Given the description of an element on the screen output the (x, y) to click on. 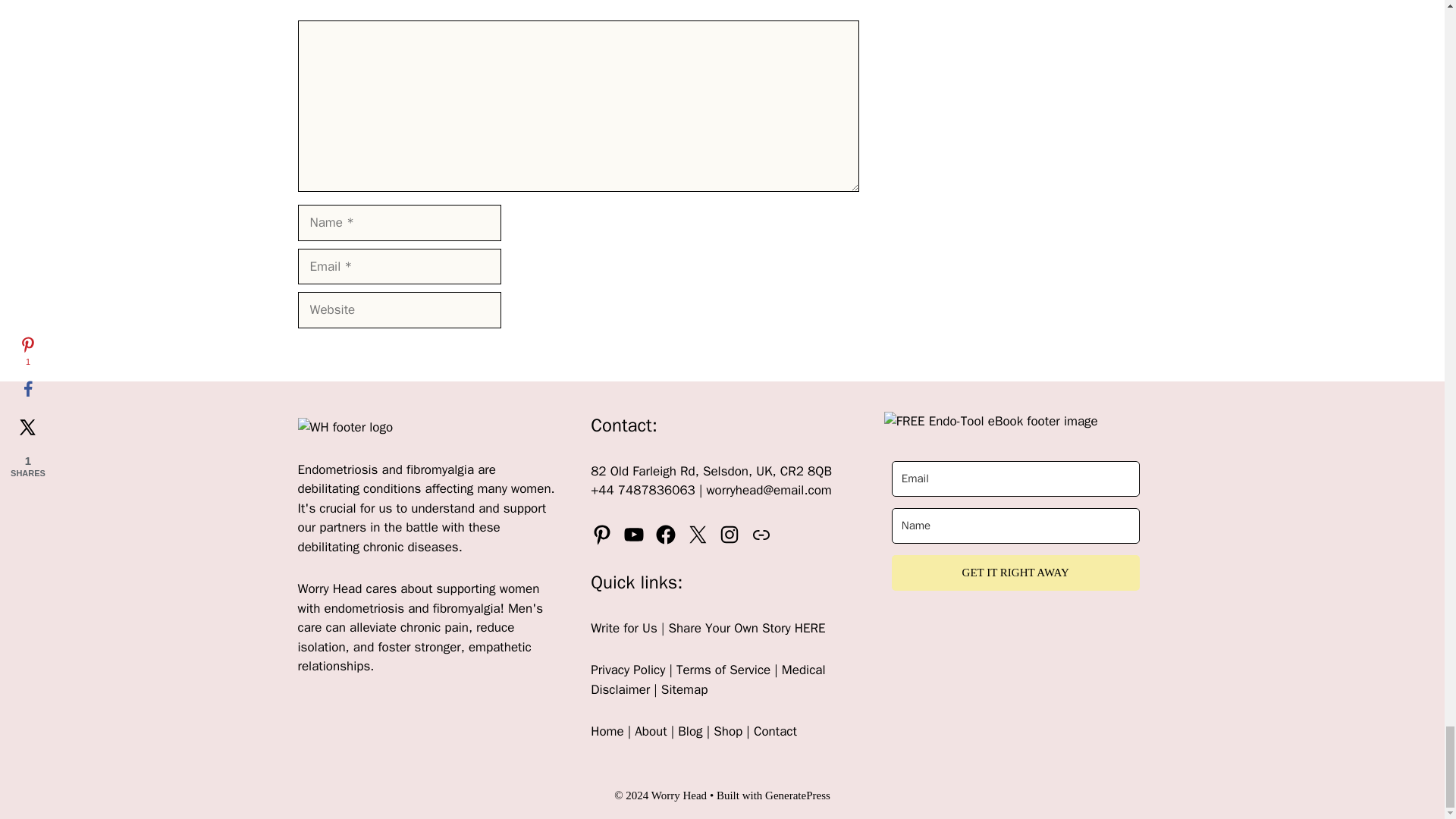
Link (761, 534)
Pinterest (601, 534)
X (697, 534)
Instagram (729, 534)
Facebook (665, 534)
Share Your Own Story HERE (746, 627)
YouTube (634, 534)
